Given the description of an element on the screen output the (x, y) to click on. 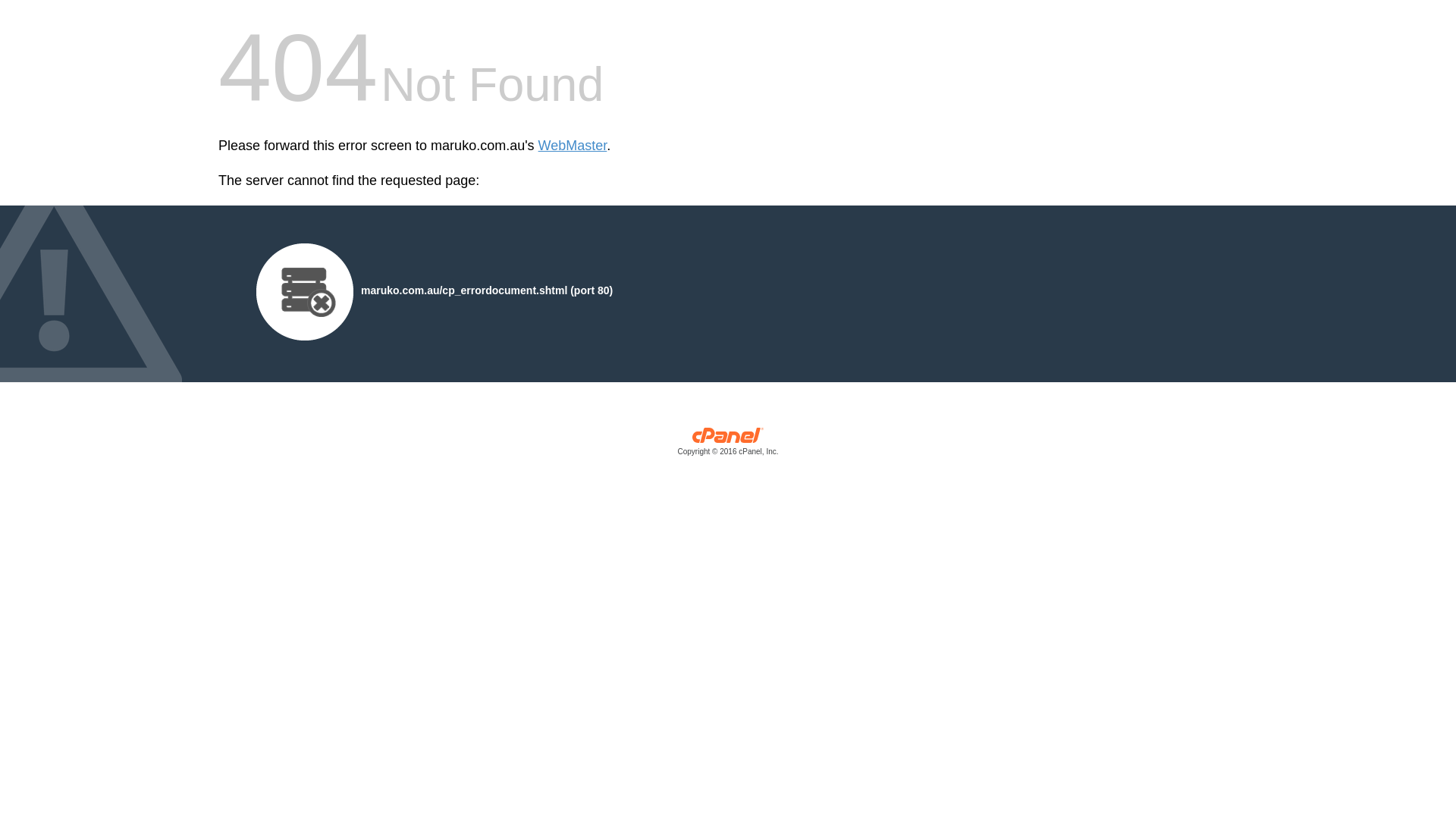
WebMaster Element type: text (572, 145)
